Given the description of an element on the screen output the (x, y) to click on. 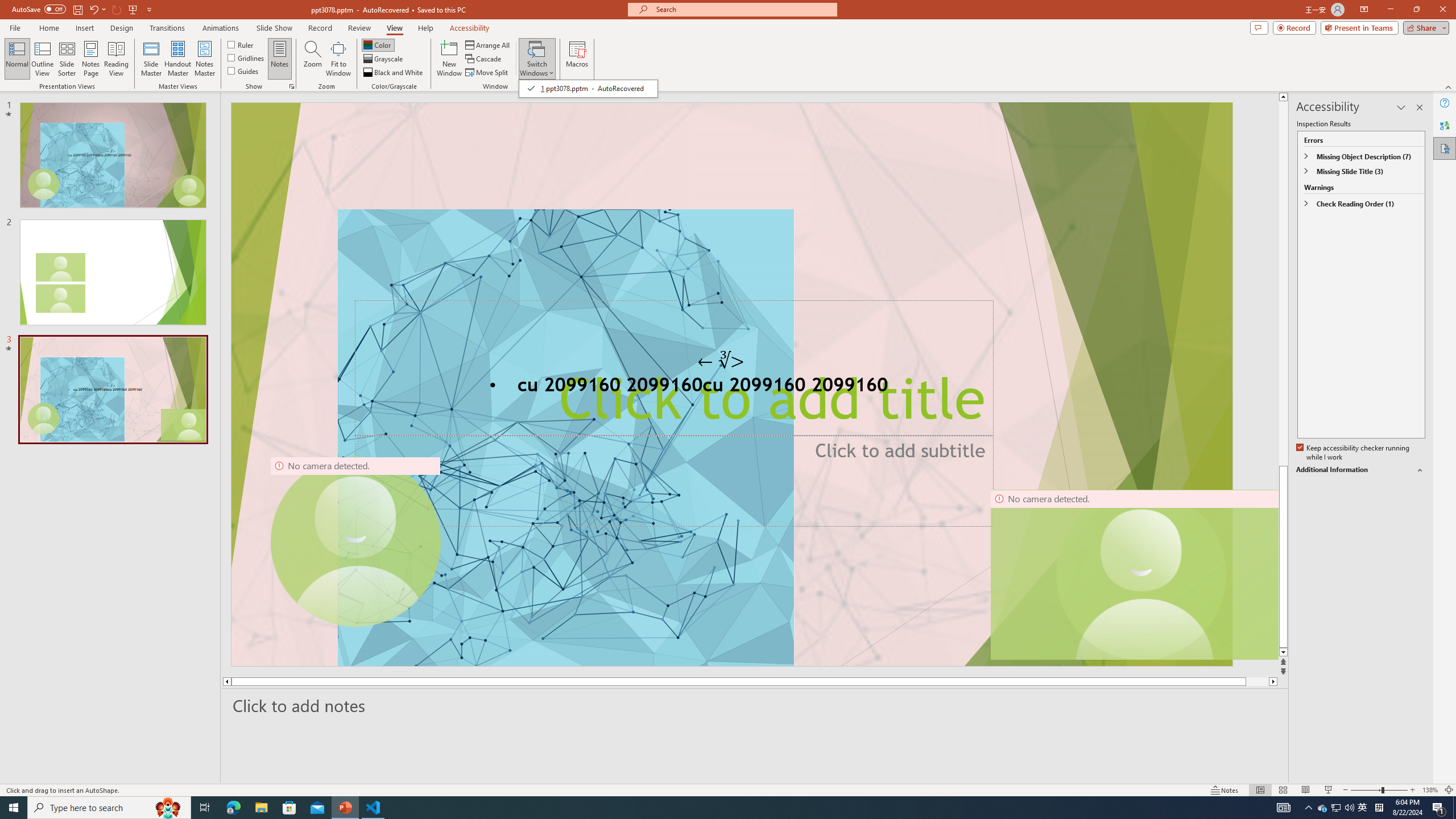
Microsoft Edge (233, 807)
Switch Windows (537, 58)
IME Mode Icon - IME is disabled (1362, 807)
Grayscale (383, 58)
New Window (449, 58)
Camera 11, No camera detected. (1141, 574)
Notes (279, 58)
